Given the description of an element on the screen output the (x, y) to click on. 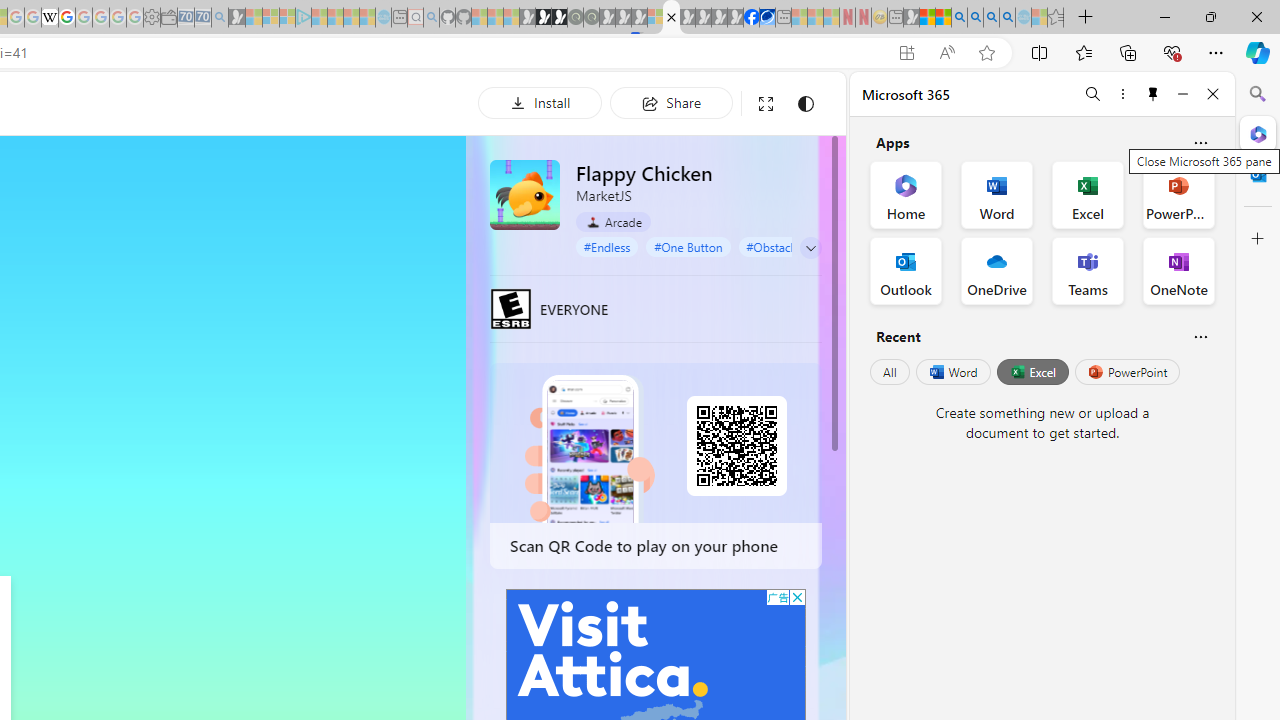
Favorites - Sleeping (1055, 17)
Word Office App (996, 194)
EVERYONE (511, 308)
2009 Bing officially replaced Live Search on June 3 - Search (975, 17)
Flappy Chicken (525, 194)
